Given the description of an element on the screen output the (x, y) to click on. 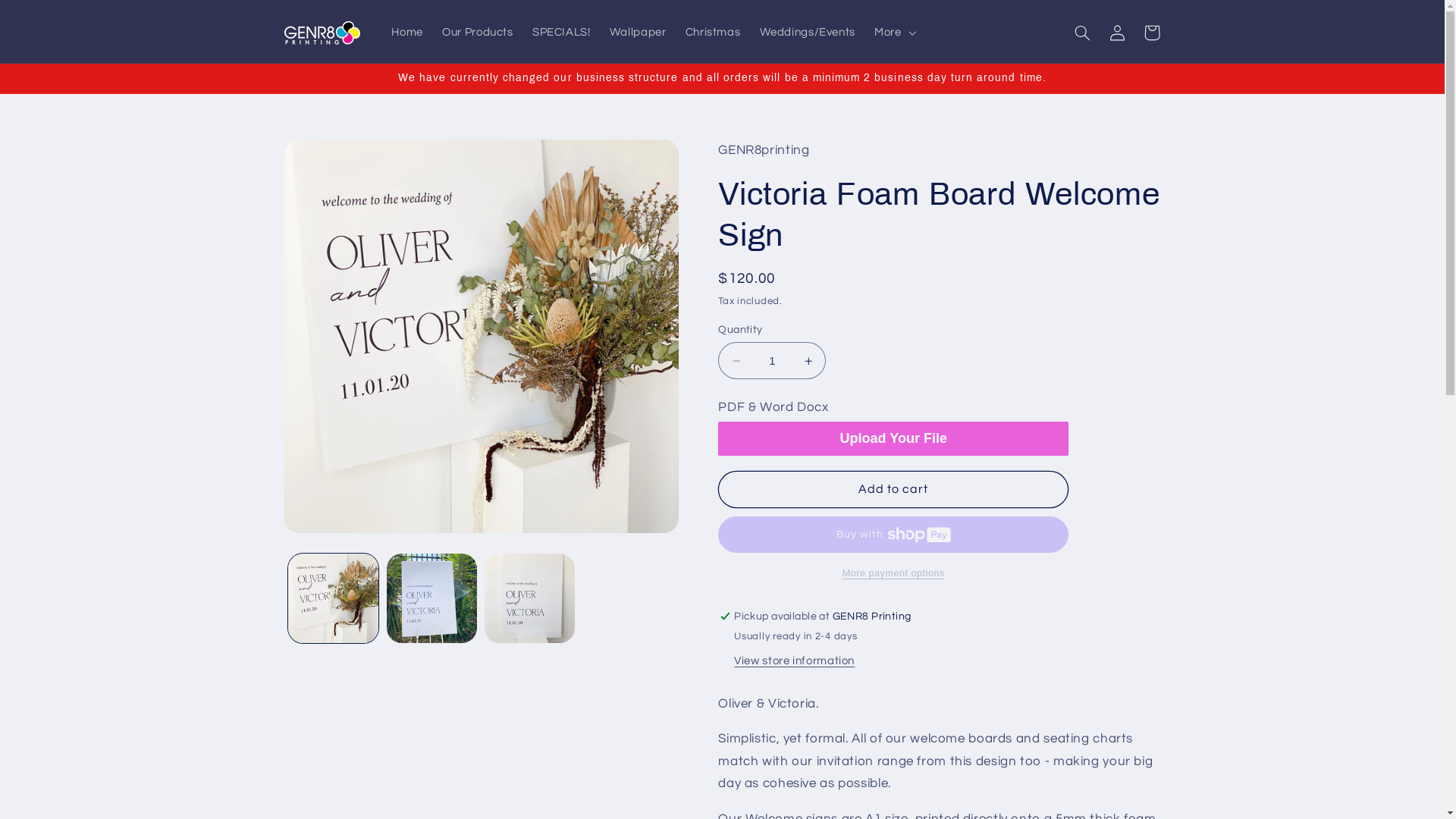
Home Element type: text (407, 32)
Weddings/Events Element type: text (807, 32)
Christmas Element type: text (712, 32)
Upload Your File Element type: text (893, 438)
More payment options Element type: text (893, 573)
Log in Element type: text (1116, 32)
Wallpaper Element type: text (637, 32)
View store information Element type: text (794, 661)
SPECIALS! Element type: text (560, 32)
Cart Element type: text (1151, 32)
Decrease quantity for Victoria Foam Board Welcome Sign Element type: text (735, 360)
Increase quantity for Victoria Foam Board Welcome Sign Element type: text (807, 360)
Skip to product information Element type: text (331, 156)
Our Products Element type: text (478, 32)
Add to cart Element type: text (893, 489)
